Given the description of an element on the screen output the (x, y) to click on. 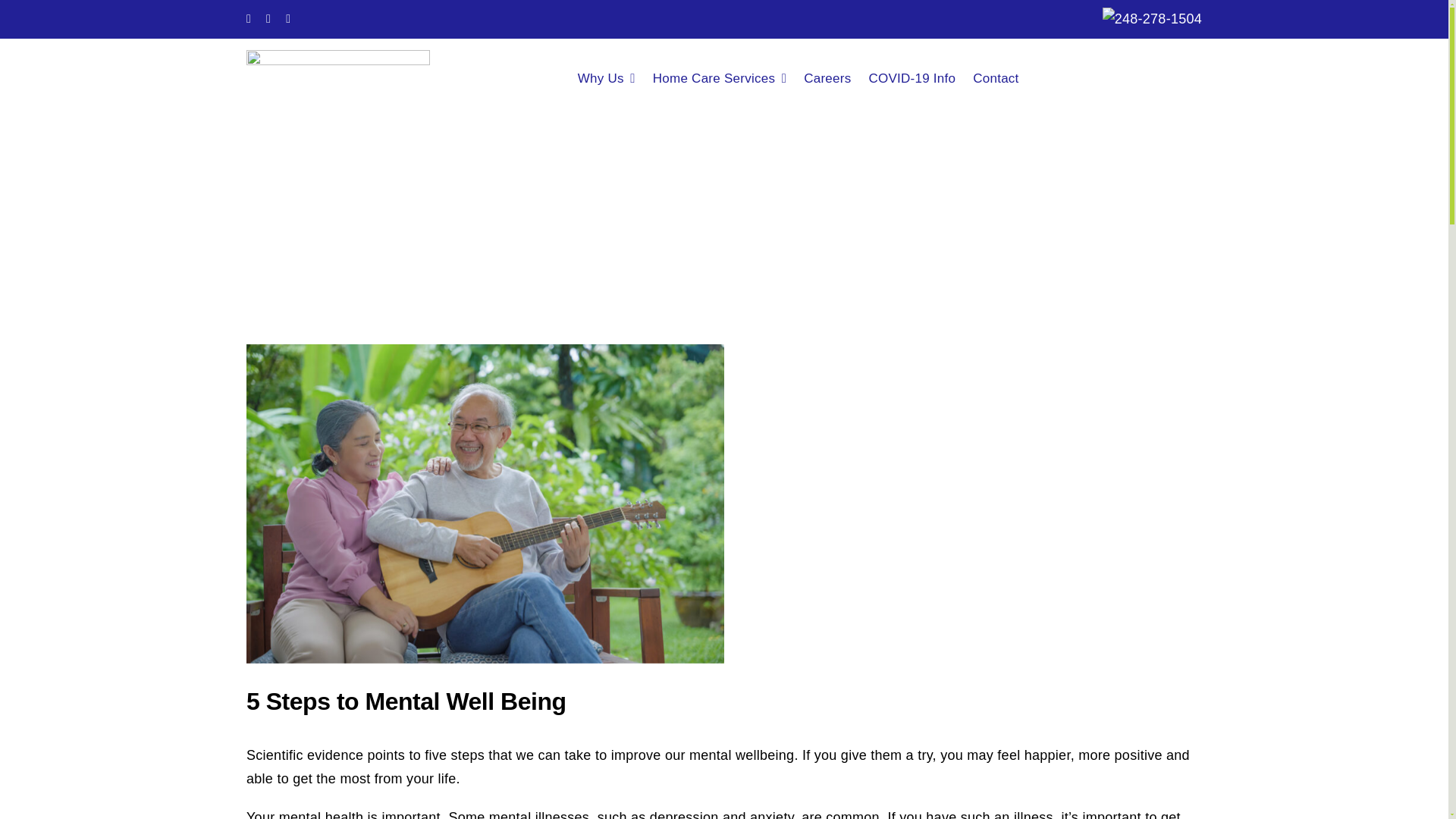
Instagram (287, 19)
Careers (835, 78)
Contact (1003, 78)
Home Care Services (727, 78)
248-278-1504 (1158, 18)
Why Us (615, 78)
COVID-19 Info (919, 78)
Facebook (248, 19)
X (268, 19)
